Given the description of an element on the screen output the (x, y) to click on. 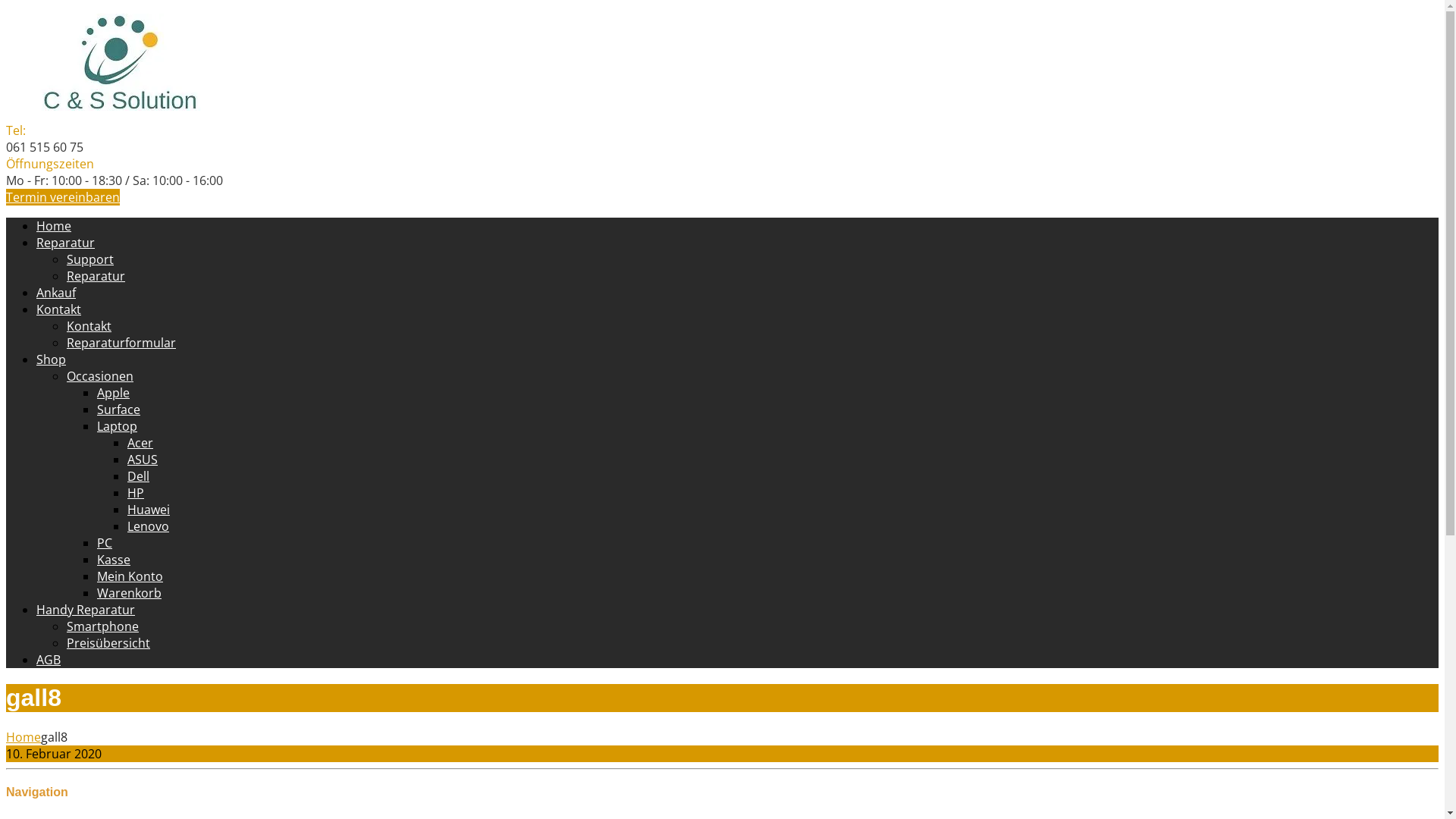
Apple Element type: text (113, 392)
HP Element type: text (135, 492)
Smartphone Element type: text (102, 626)
Occasionen Element type: text (99, 375)
Huawei Element type: text (148, 509)
Reparatur Element type: text (65, 242)
AGB Element type: text (48, 659)
Reparatur Element type: text (95, 275)
Handy Reparatur Element type: text (85, 609)
Home Element type: text (53, 225)
Skip to content Element type: text (5, 5)
Support Element type: text (89, 259)
Surface Element type: text (118, 409)
Laptop Element type: text (117, 425)
PC Element type: text (104, 542)
Kontakt Element type: text (58, 309)
Termin vereinbaren Element type: text (62, 196)
Ankauf Element type: text (55, 292)
Acer Element type: text (140, 442)
Kasse Element type: text (113, 559)
Home Element type: text (23, 736)
Shop Element type: text (50, 359)
Lenovo Element type: text (148, 525)
Dell Element type: text (138, 475)
Reparaturformular Element type: text (120, 342)
Kontakt Element type: text (88, 325)
ASUS Element type: text (142, 459)
Mein Konto Element type: text (130, 575)
Warenkorb Element type: text (129, 592)
